Given the description of an element on the screen output the (x, y) to click on. 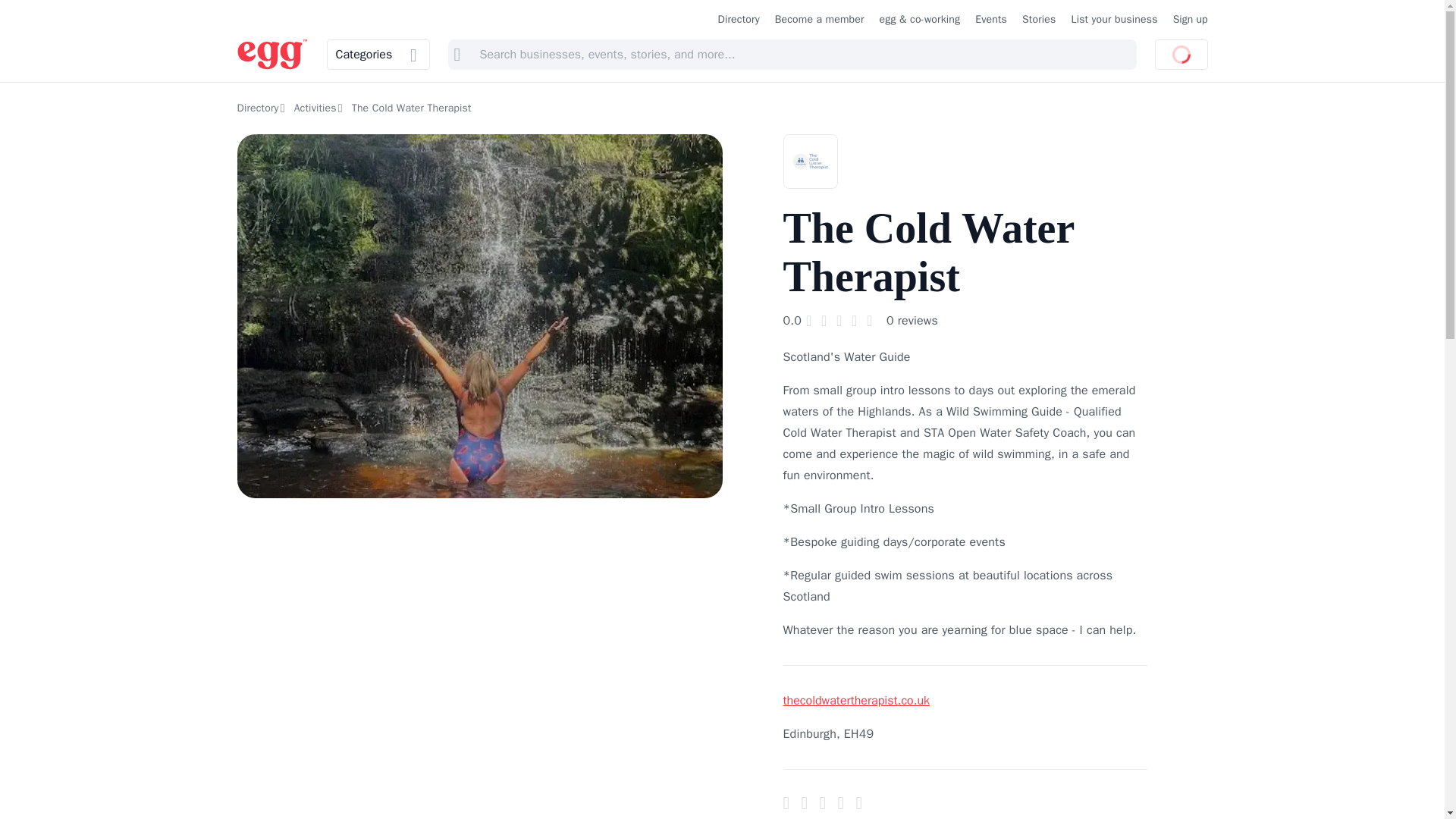
List your business (1113, 19)
Directory (738, 19)
Sign up (1190, 19)
Become a member (819, 19)
Events (991, 19)
Stories (1038, 19)
